Given the description of an element on the screen output the (x, y) to click on. 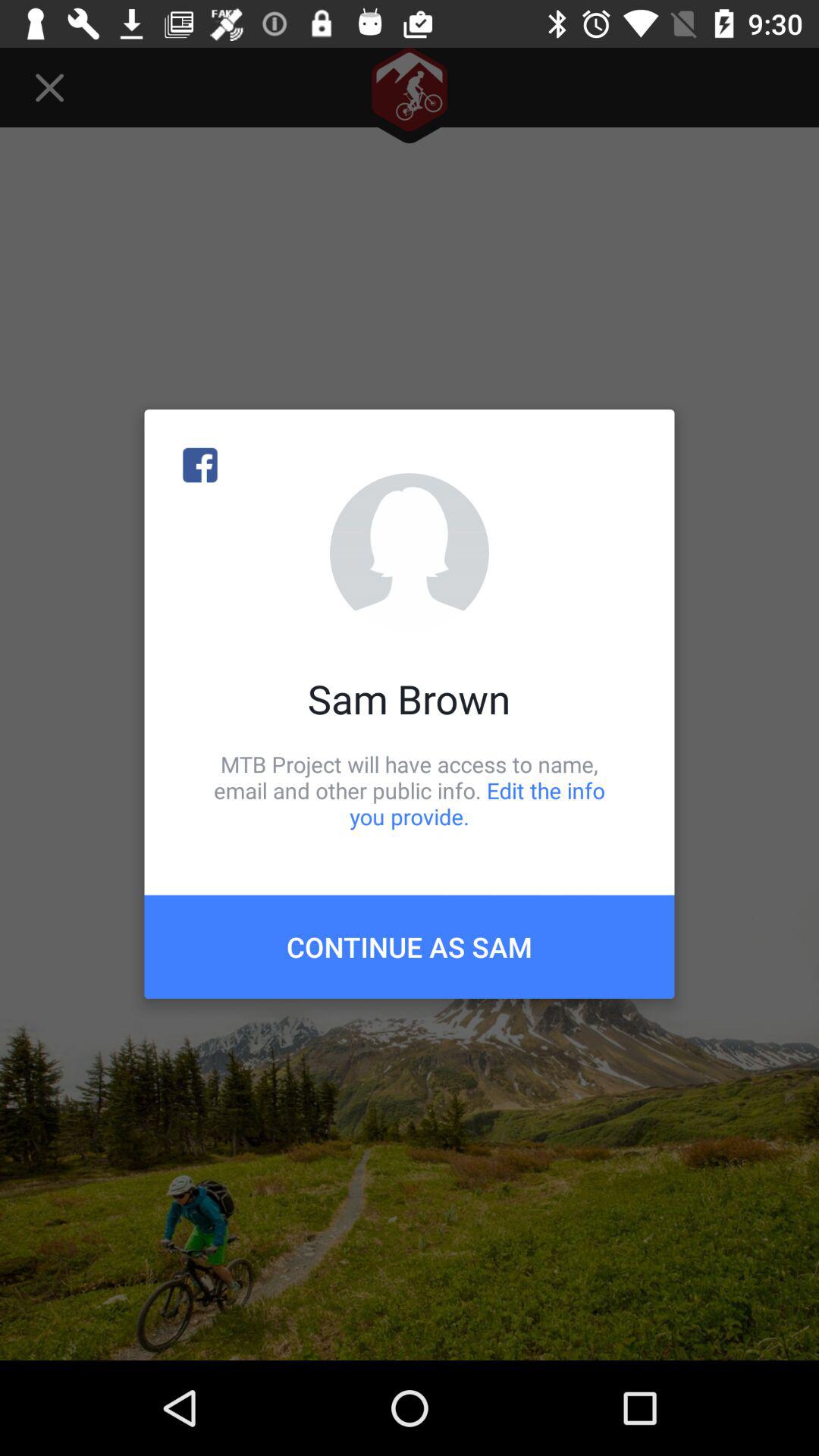
turn off the continue as sam (409, 946)
